Given the description of an element on the screen output the (x, y) to click on. 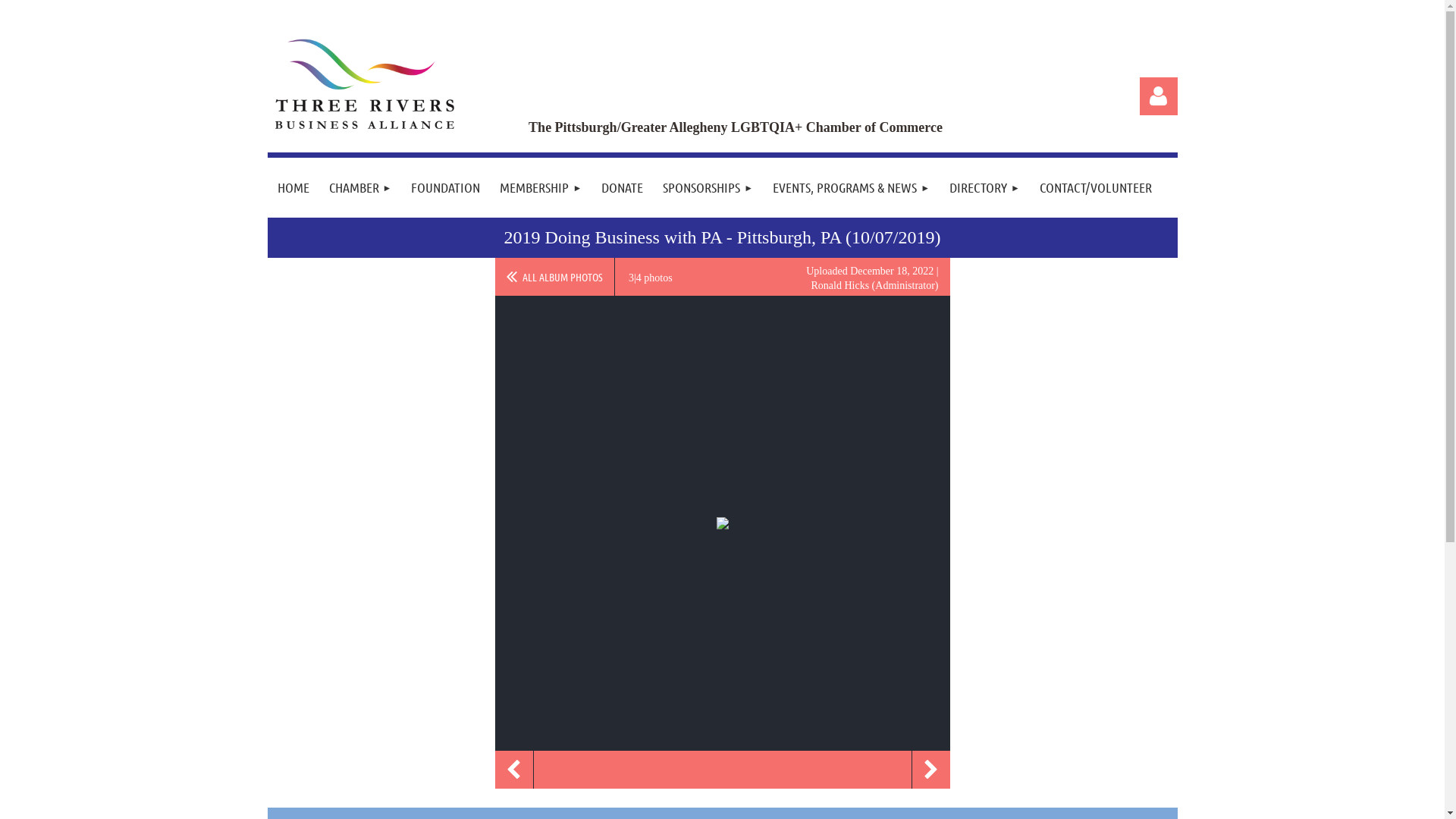
MEMBERSHIP Element type: text (540, 187)
CHAMBER Element type: text (359, 187)
HOME Element type: text (292, 187)
DIRECTORY Element type: text (984, 187)
CONTACT/VOLUNTEER Element type: text (1095, 187)
FOUNDATION Element type: text (445, 187)
EVENTS, PROGRAMS & NEWS Element type: text (850, 187)
Log in Element type: text (1157, 96)
Previous Element type: text (513, 769)
Next Element type: text (930, 769)
DONATE Element type: text (621, 187)
SPONSORSHIPS Element type: text (707, 187)
ALL ALBUM PHOTOS Element type: text (554, 276)
